Given the description of an element on the screen output the (x, y) to click on. 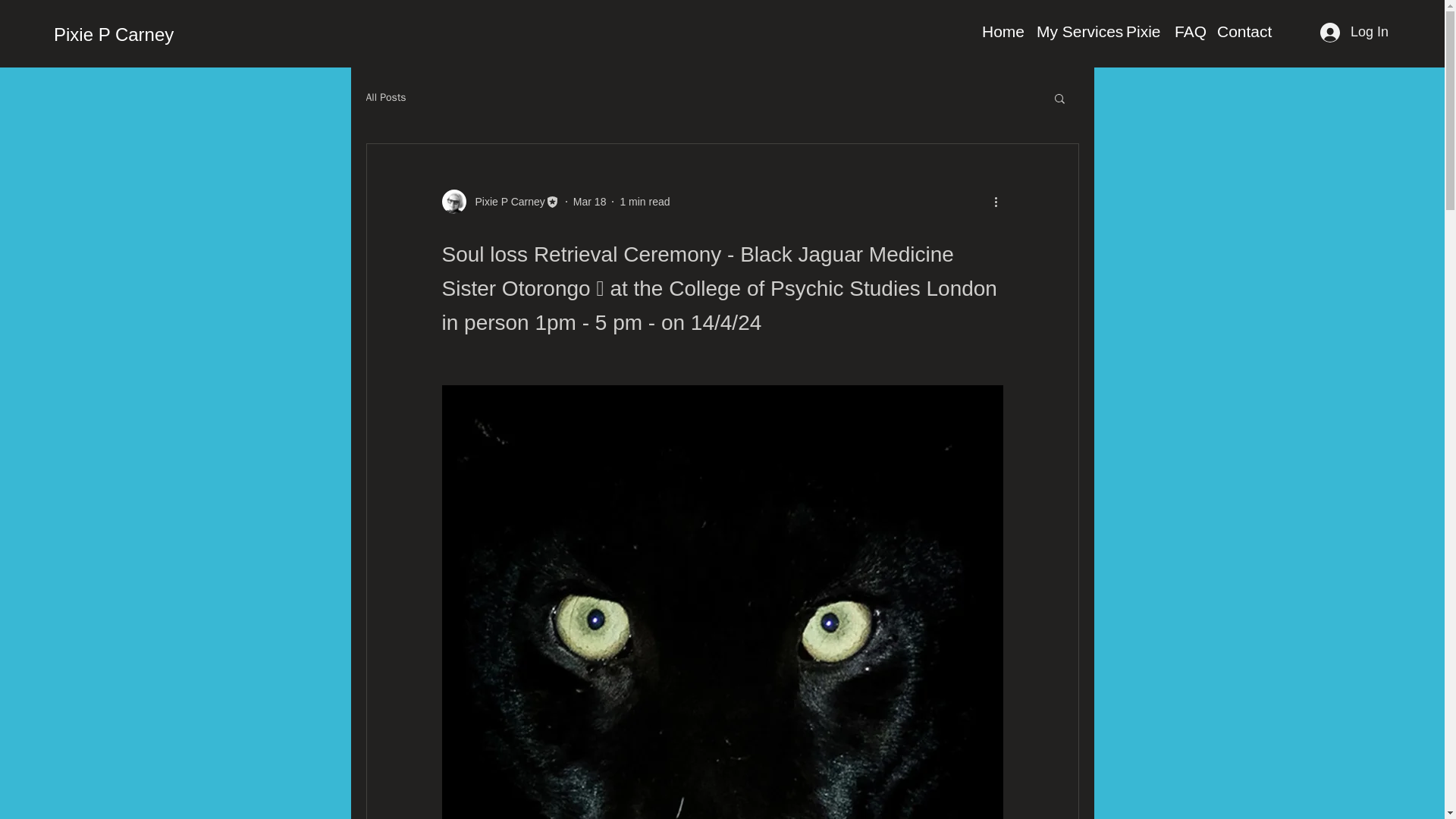
Contact (1242, 31)
Home (1001, 31)
Pixie P Carney (504, 201)
Pixie P Carney (113, 34)
FAQ (1188, 31)
All Posts (385, 97)
Log In (1353, 32)
Mar 18 (590, 201)
1 min read (644, 201)
Pixie P Carney (500, 201)
